Given the description of an element on the screen output the (x, y) to click on. 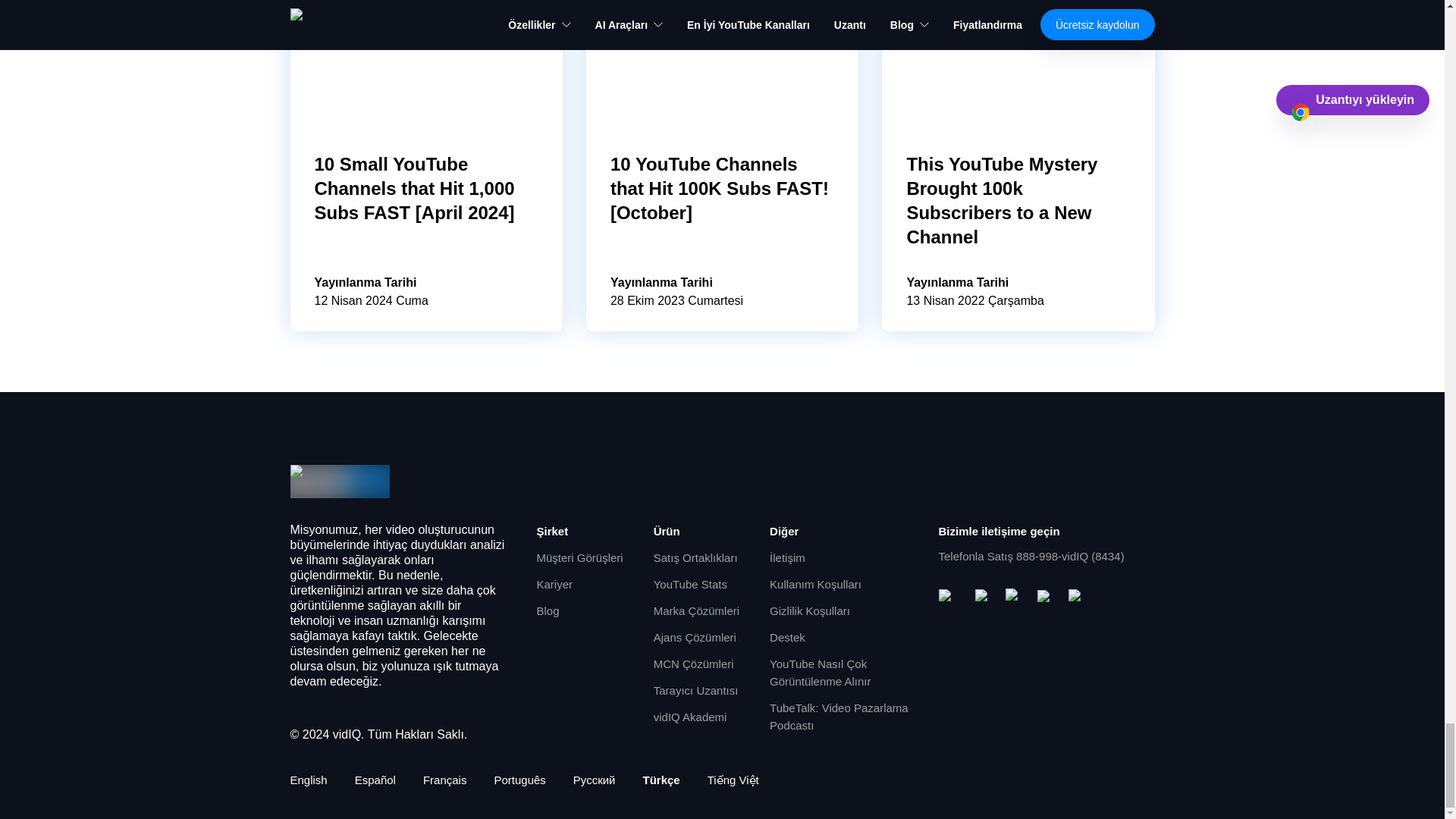
YouTube (950, 597)
Twitter (1046, 597)
LinkedIn (1076, 597)
Facebook (983, 597)
Instagram (1015, 598)
